Given the description of an element on the screen output the (x, y) to click on. 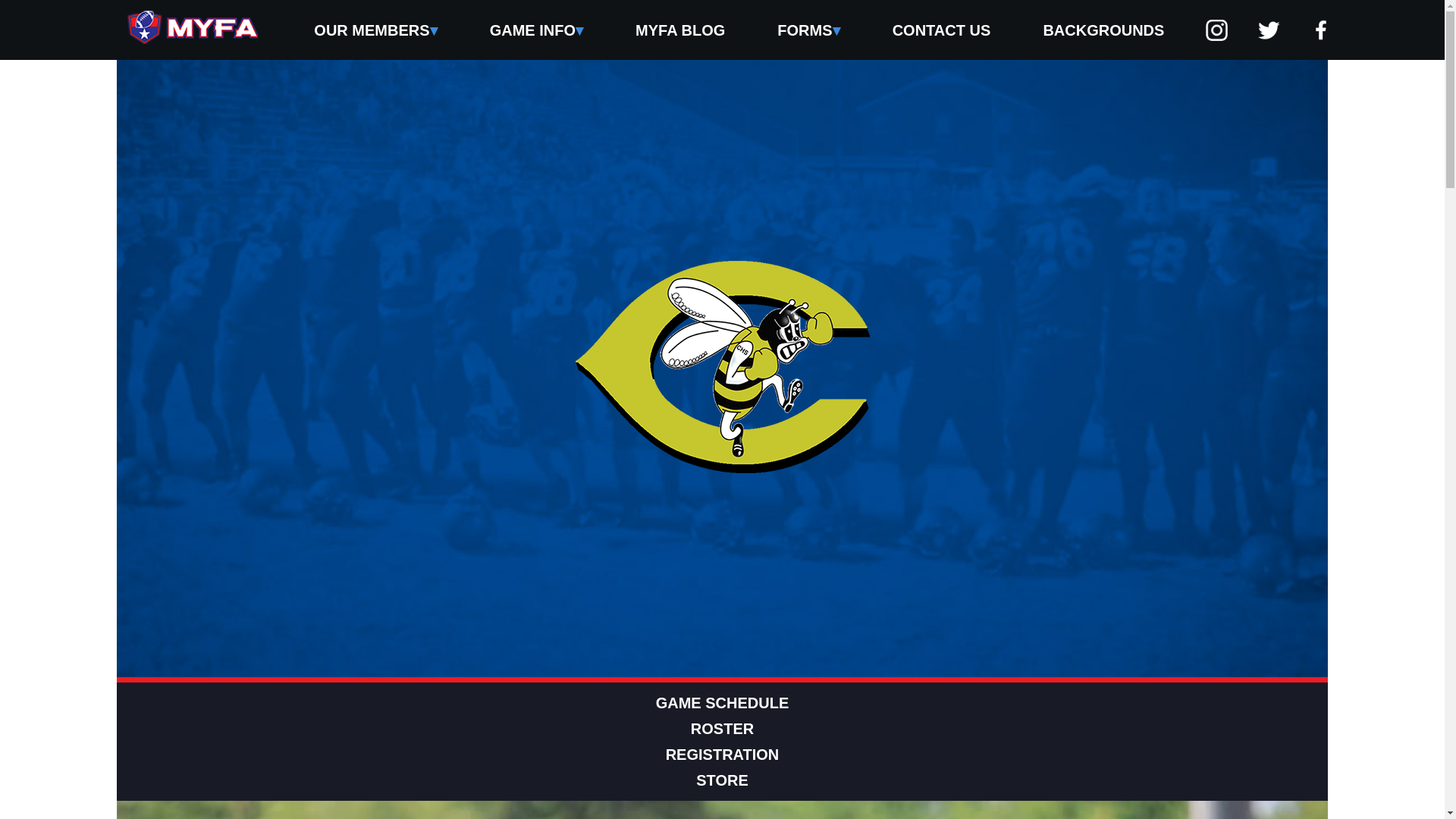
CONTACT US (941, 29)
ROSTER (722, 728)
GAME SCHEDULE (722, 702)
BACKGROUNDS (1103, 29)
GAME INFO (535, 29)
REGISTRATION (721, 754)
MYFA BLOG (680, 29)
STORE (721, 780)
OUR MEMBERS (375, 29)
FORMS (808, 29)
